Given the description of an element on the screen output the (x, y) to click on. 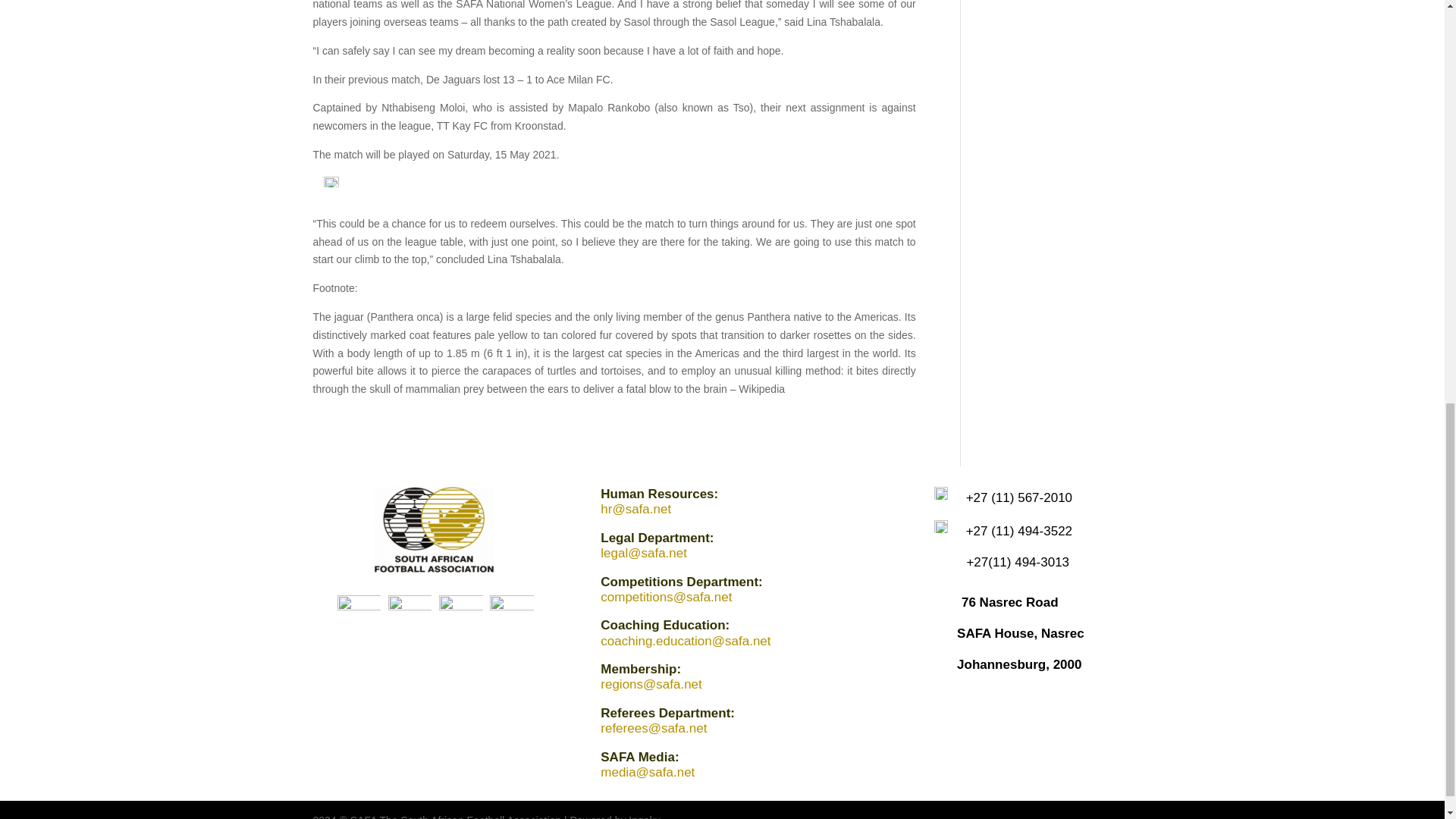
76 Nasrec Road (1009, 602)
Johannesburg, 2000 (1018, 664)
SAFA House, Nasrec (1020, 633)
